Given the description of an element on the screen output the (x, y) to click on. 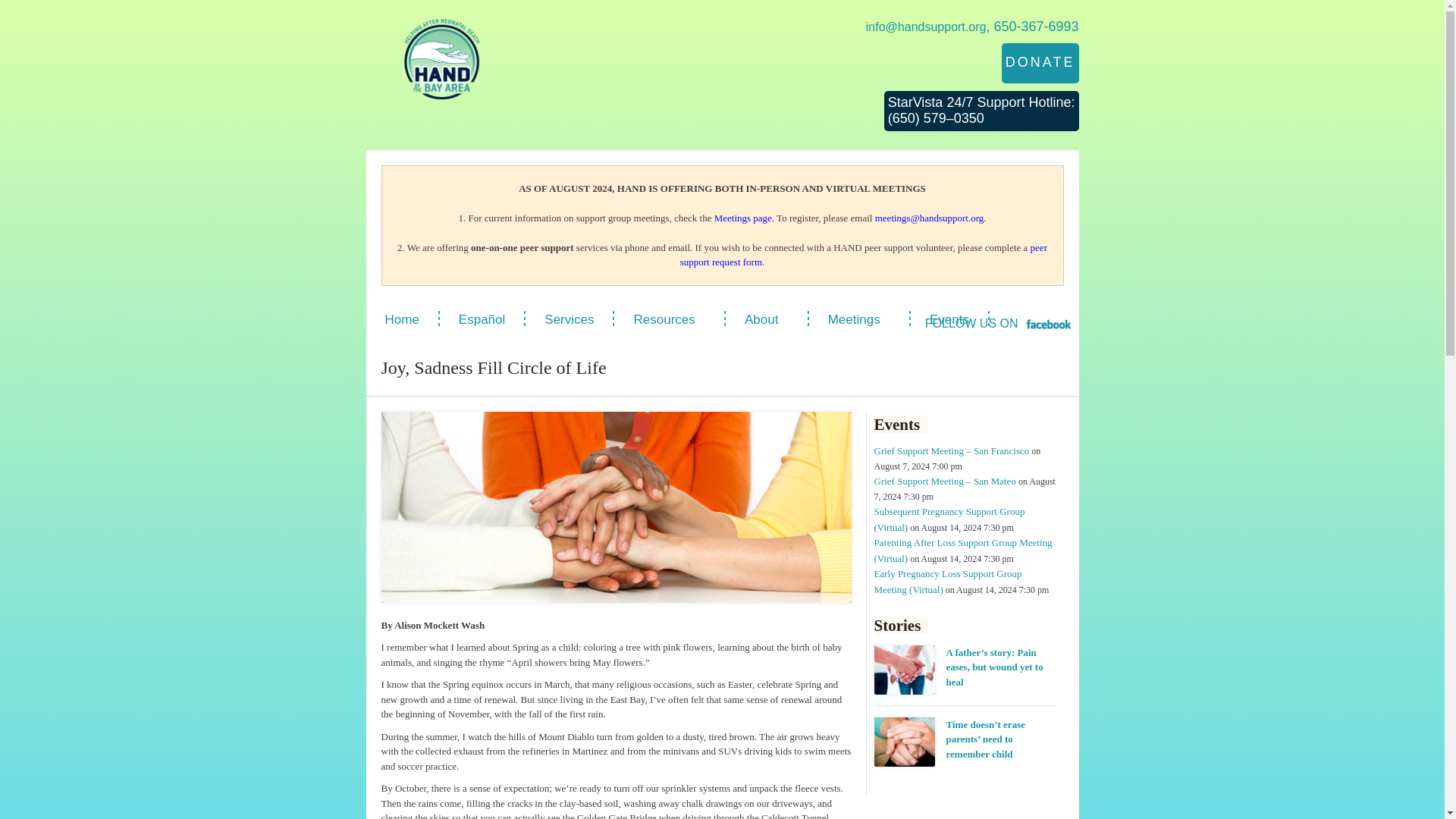
DONATE (1039, 63)
HAND of the Bay Area (441, 58)
Meetings (858, 320)
Resources (668, 320)
Joy, Sadness Fill Circle of Life (615, 506)
Meetings page (742, 217)
Donate (1039, 63)
Events (949, 320)
Services (568, 320)
About (766, 320)
Home (401, 320)
peer support request form (862, 254)
